Given the description of an element on the screen output the (x, y) to click on. 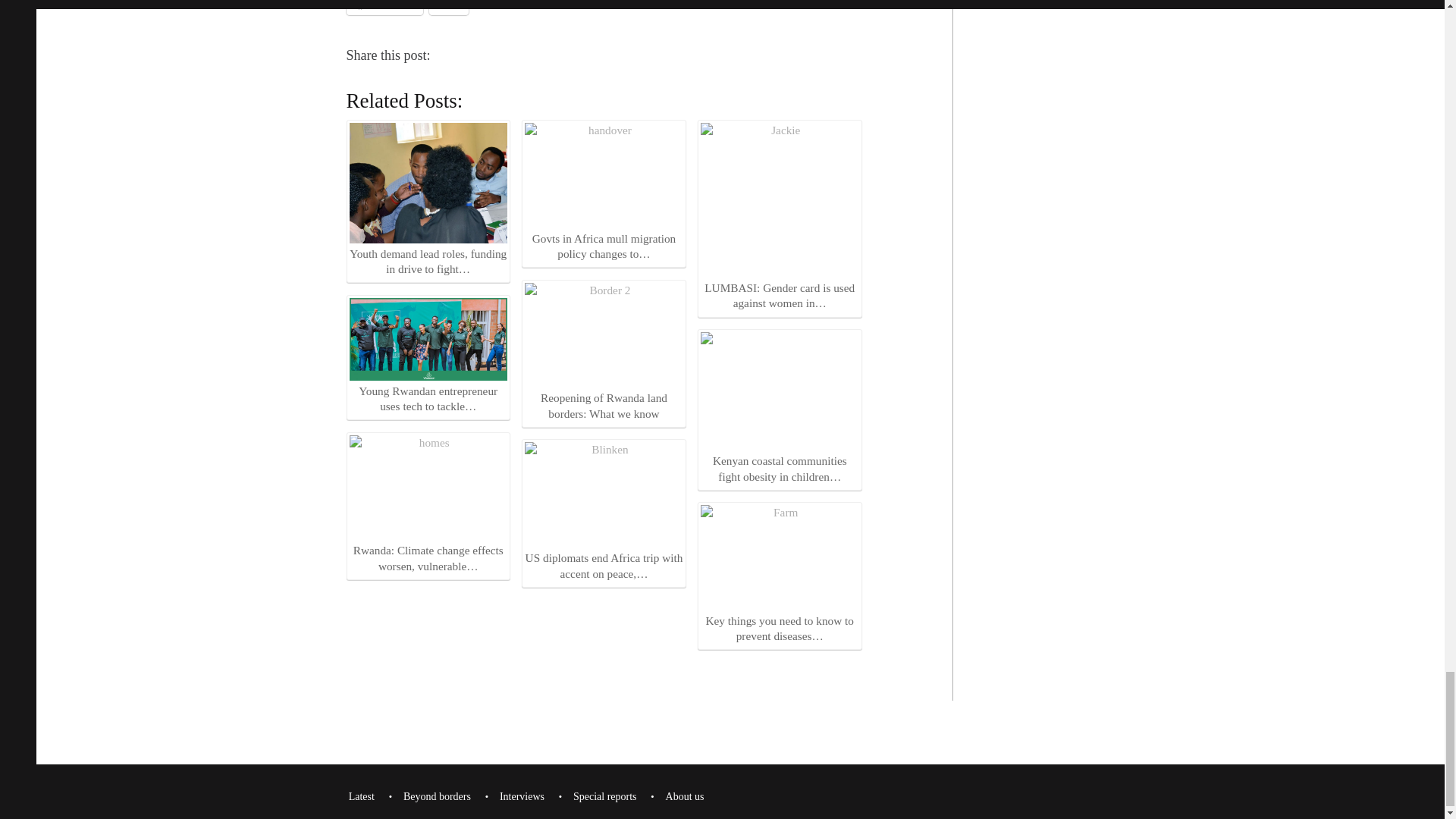
Facebook (384, 7)
Reopening of Rwanda land borders: What we know (603, 335)
Reopening of Rwanda land borders: What we know (603, 352)
Click to share on Facebook (384, 7)
Click to share on X (448, 7)
X (448, 7)
